Given the description of an element on the screen output the (x, y) to click on. 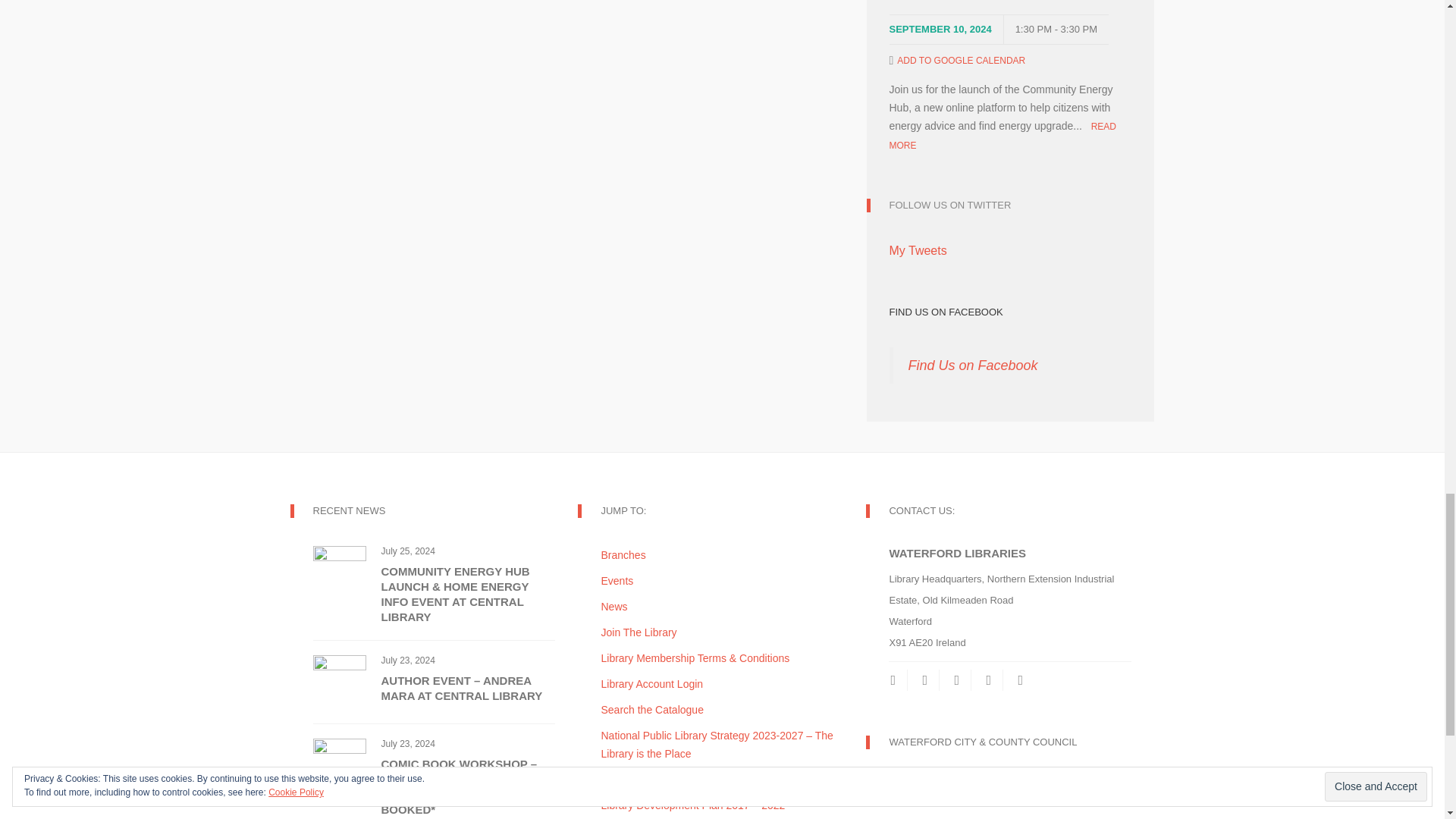
RSS (925, 680)
